Given the description of an element on the screen output the (x, y) to click on. 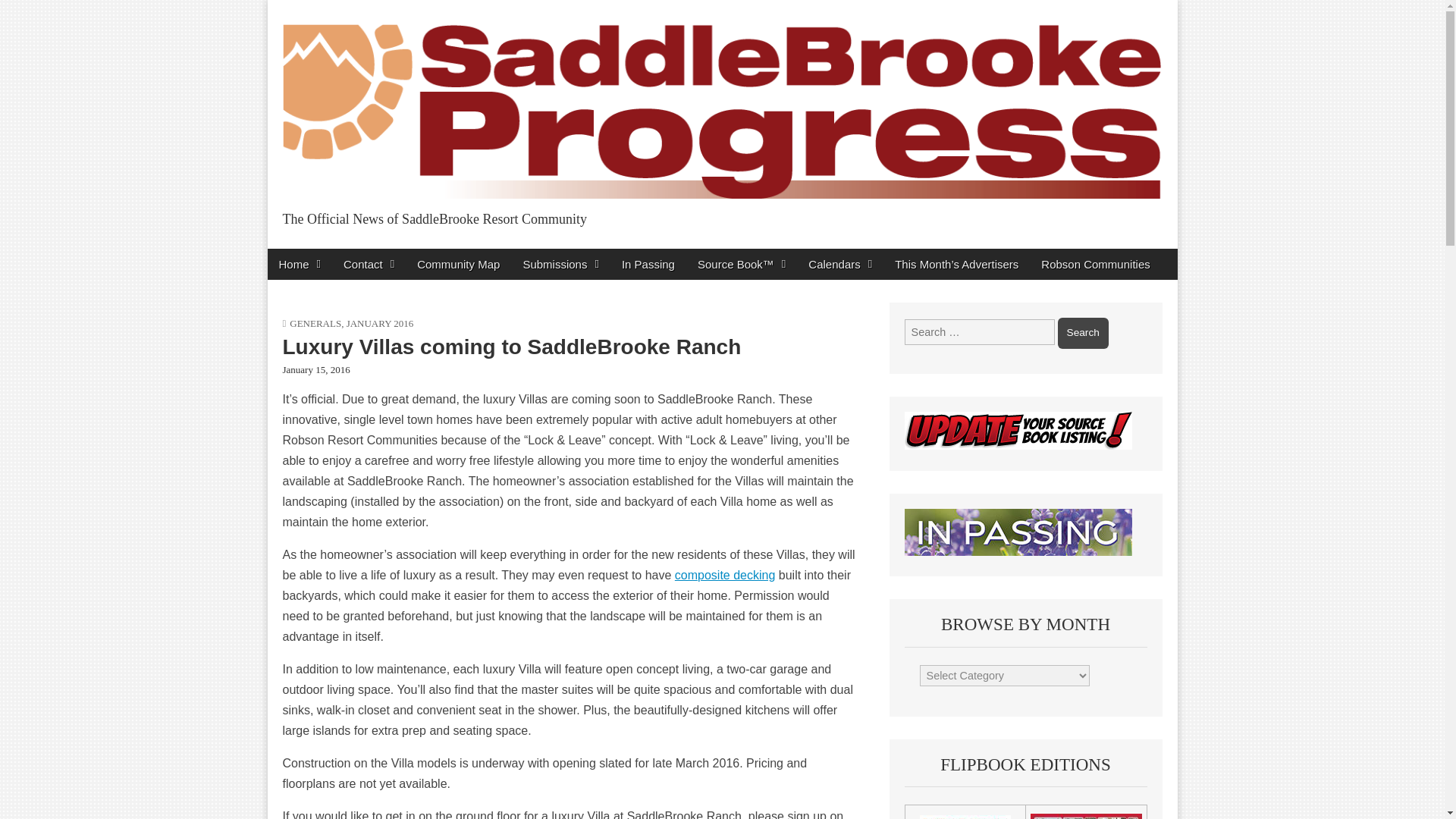
Search (1083, 332)
GENERALS (314, 323)
Search (1083, 332)
In Passing (647, 264)
composite decking (725, 574)
Community Map (458, 264)
Home (298, 264)
SaddleBrooke Progress (452, 252)
